Given the description of an element on the screen output the (x, y) to click on. 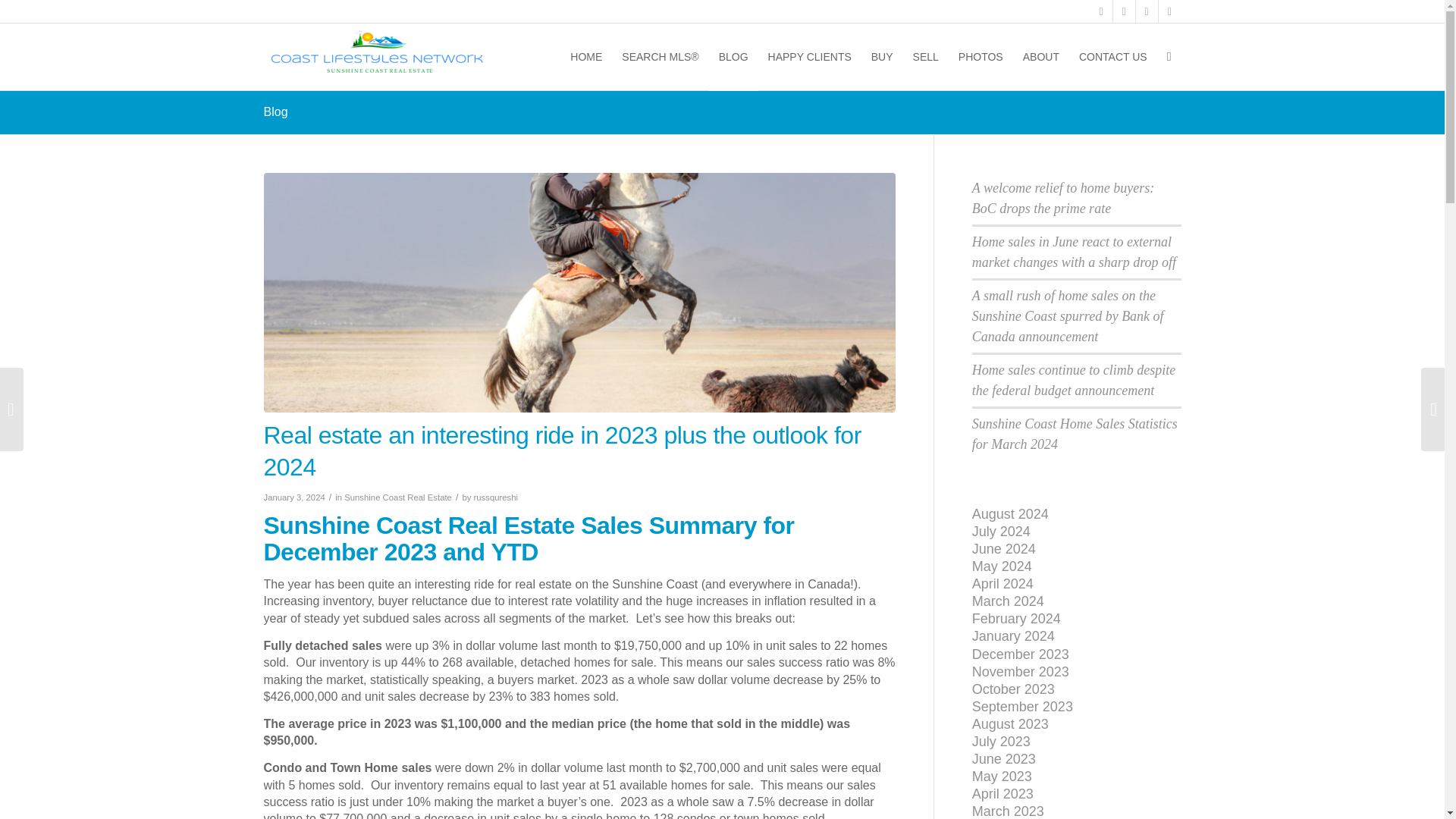
Facebook (1101, 11)
PHOTOS (981, 56)
CONTACT US (1112, 56)
A welcome relief to home buyers: BoC drops the prime rate (1063, 198)
Twitter (1124, 11)
Rss (1169, 11)
Blog (275, 111)
